Given the description of an element on the screen output the (x, y) to click on. 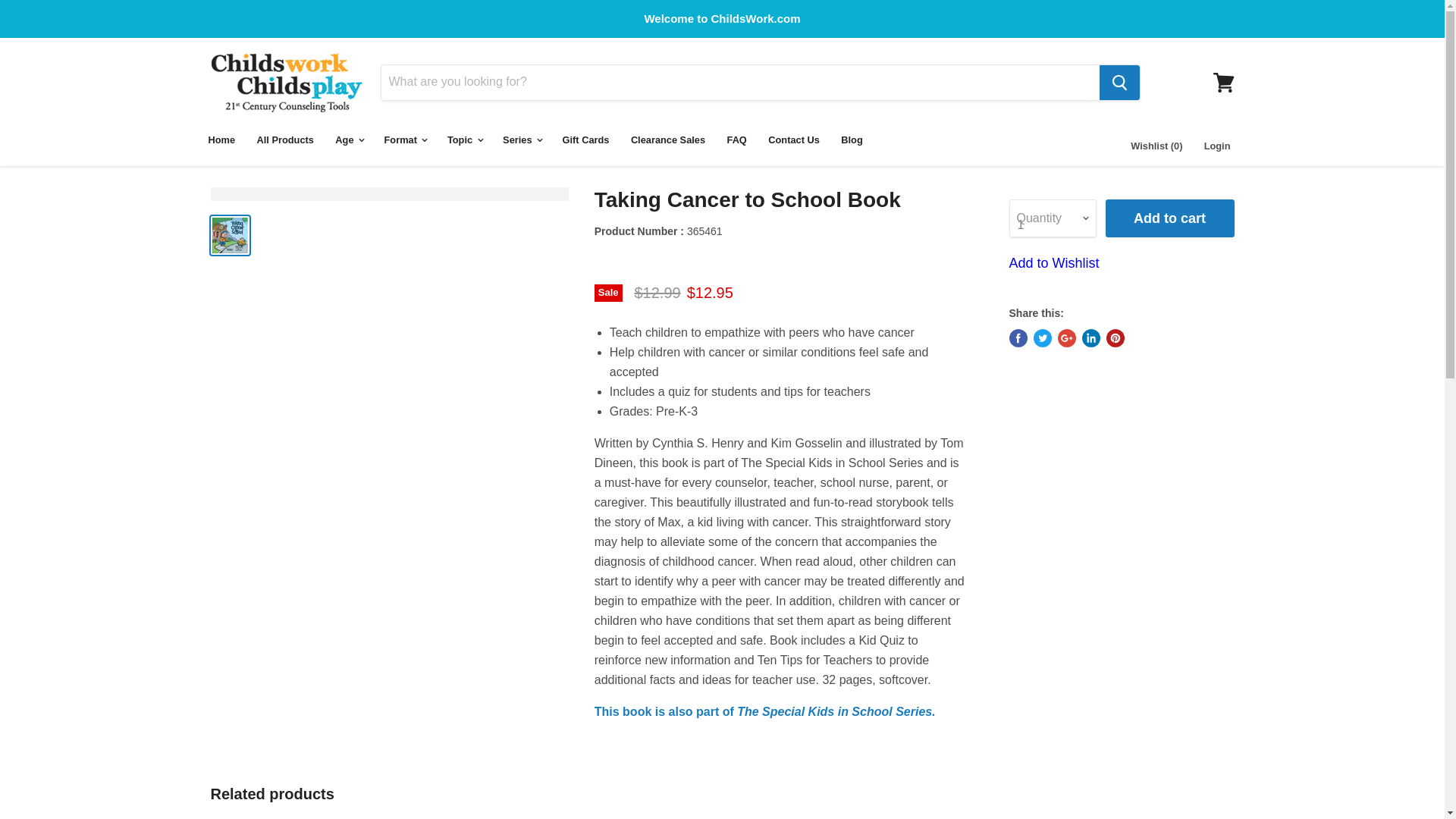
Age (348, 140)
View cart (1223, 82)
Format (405, 140)
All Products (285, 140)
Home (221, 140)
